Given the description of an element on the screen output the (x, y) to click on. 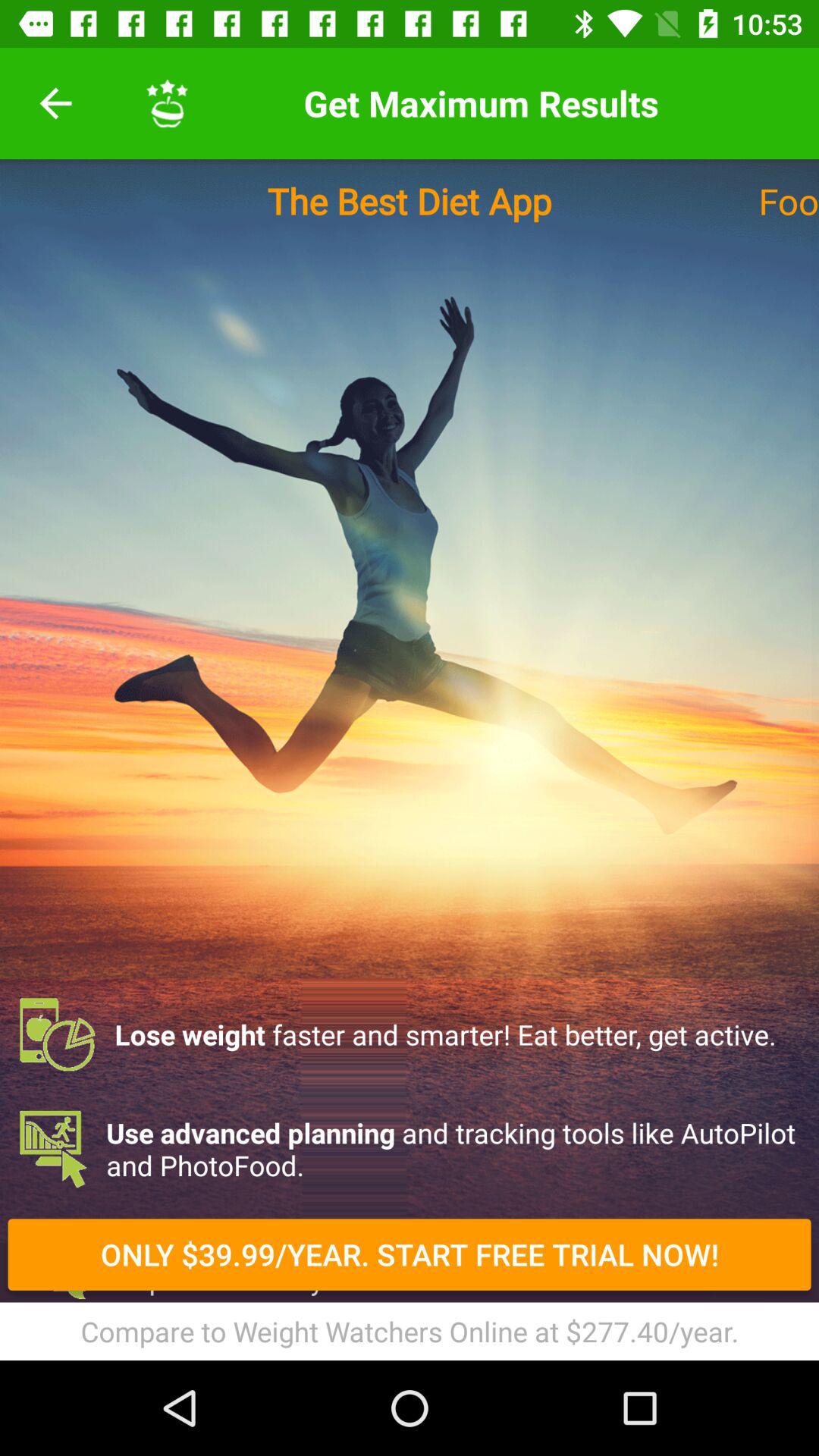
scroll to compare to weight item (409, 1331)
